Given the description of an element on the screen output the (x, y) to click on. 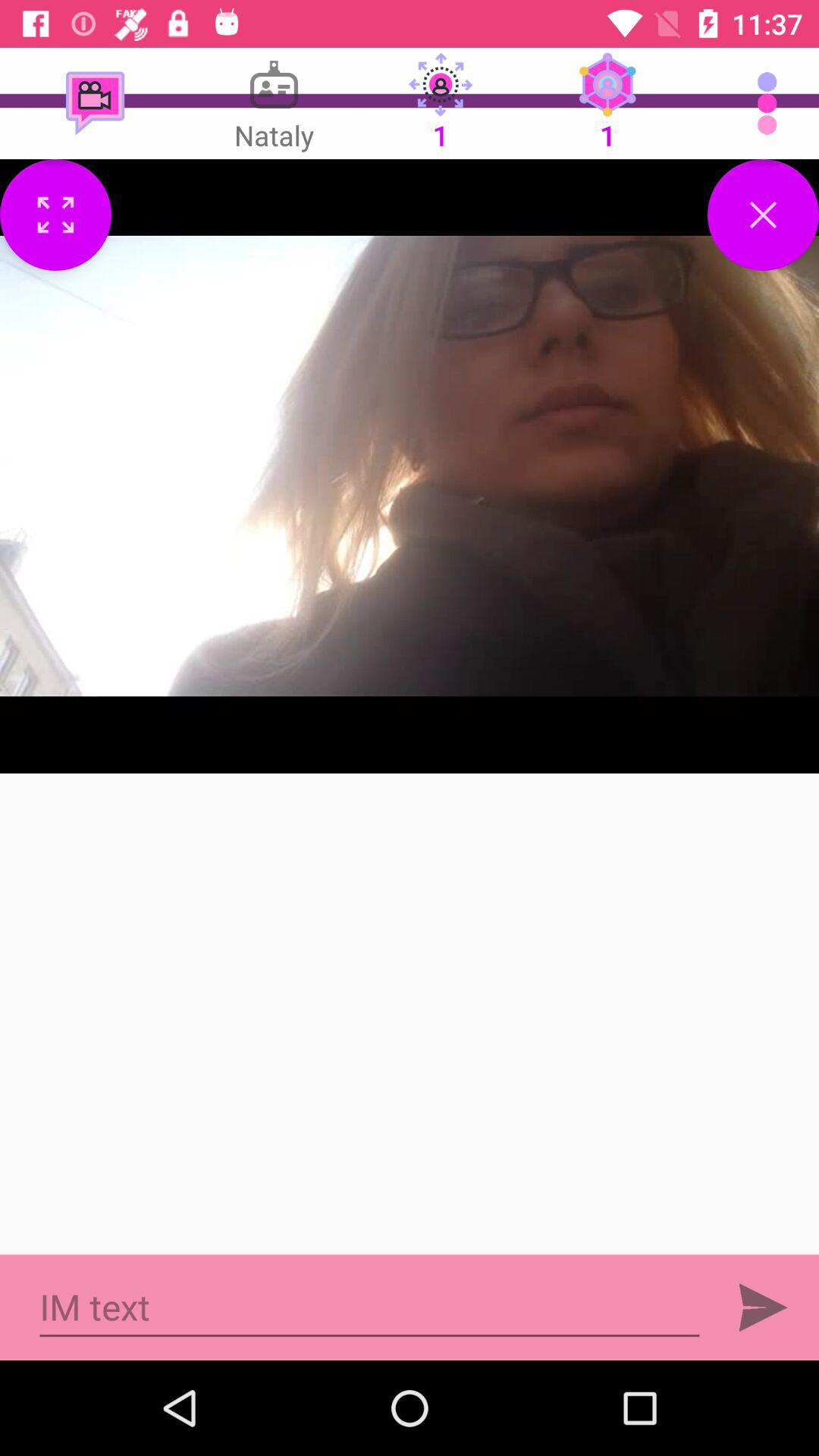
closes screen (763, 214)
